Given the description of an element on the screen output the (x, y) to click on. 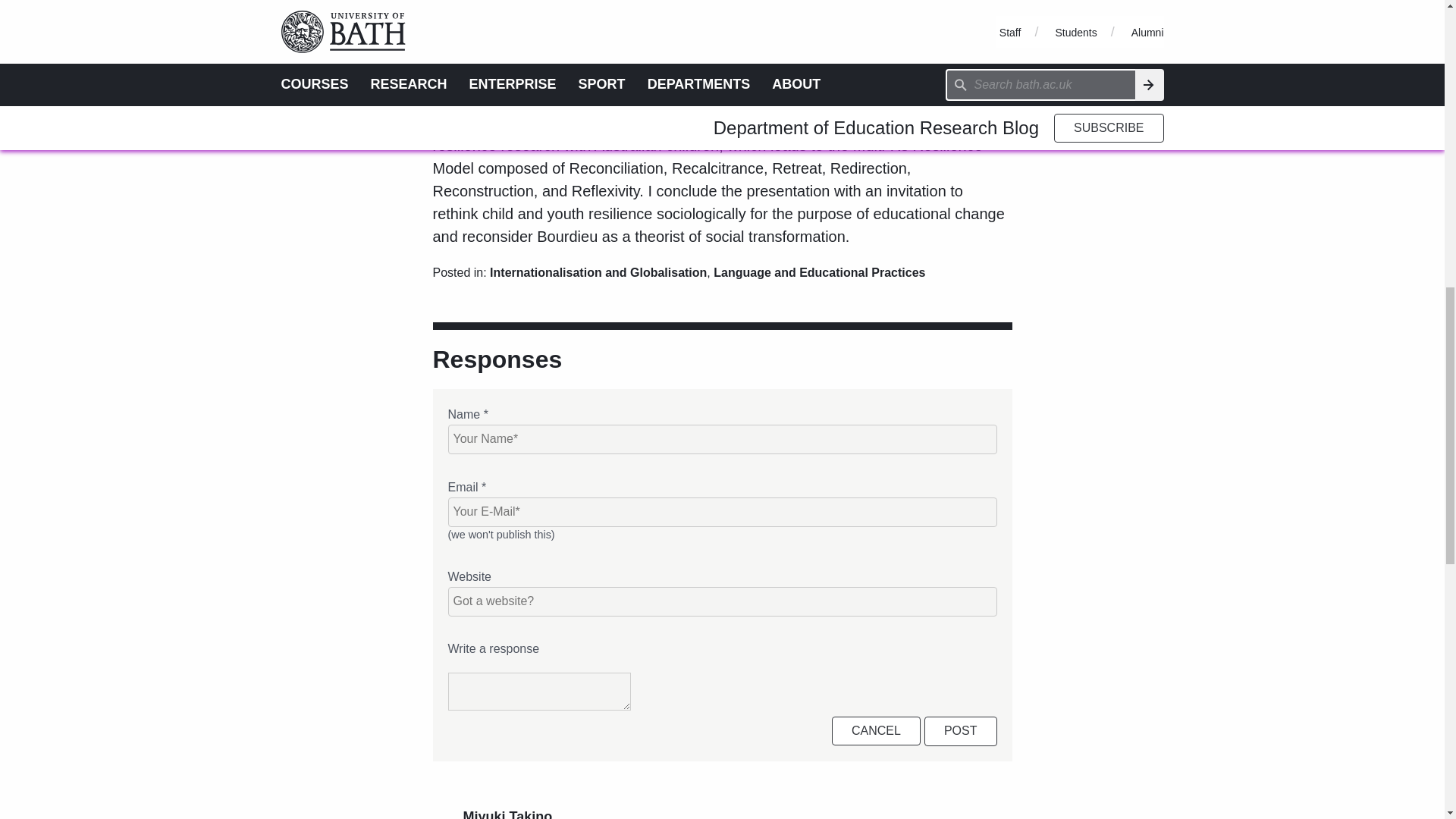
CANCEL (875, 730)
Post (960, 731)
Internationalisation and Globalisation (597, 272)
Post (960, 731)
Language and Educational Practices (818, 272)
